Given the description of an element on the screen output the (x, y) to click on. 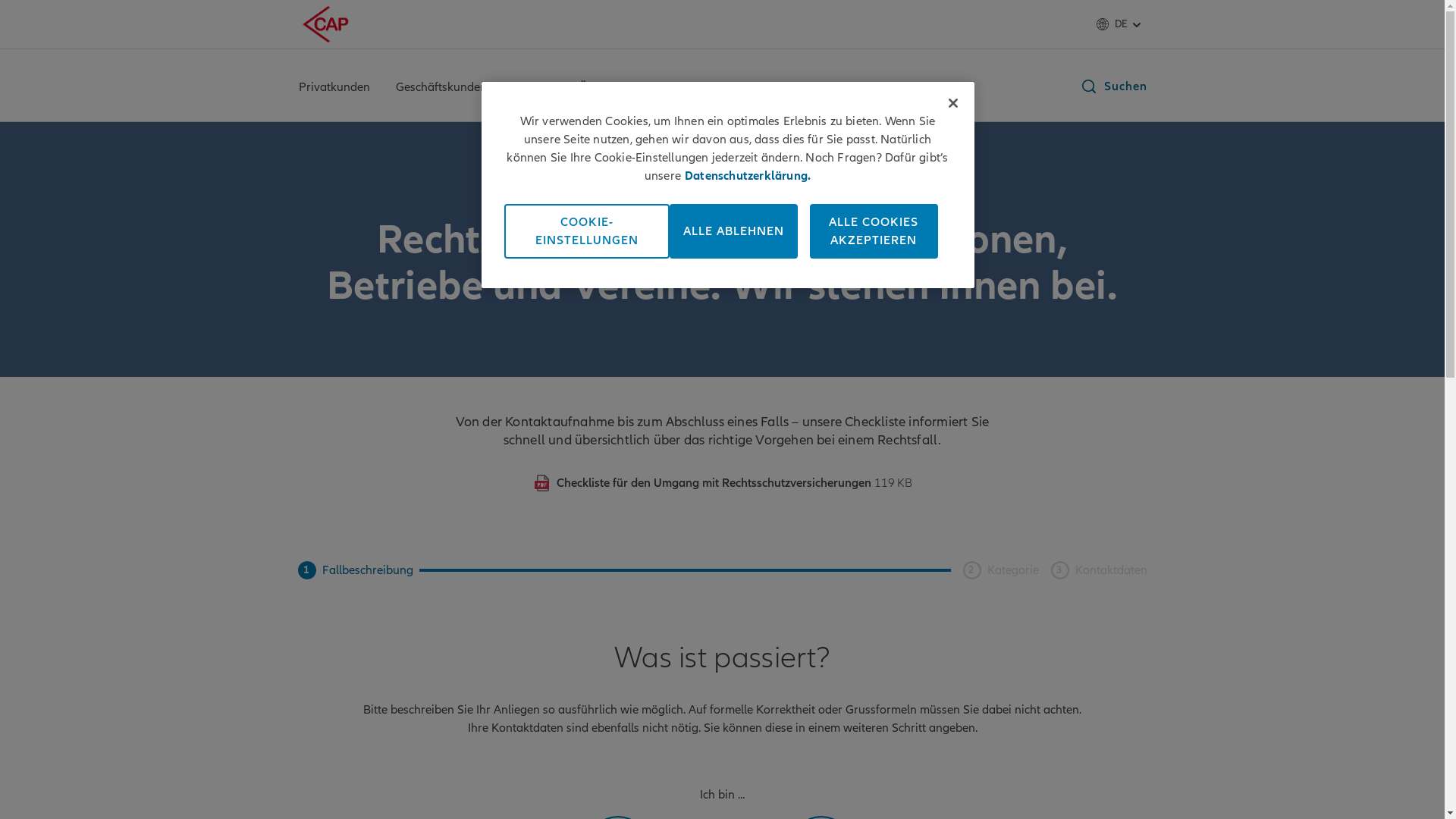
ALLE COOKIES AKZEPTIEREN Element type: text (873, 230)
Services Element type: text (532, 88)
ALLE ABLEHNEN Element type: text (732, 230)
Suchen Element type: text (1113, 86)
Karriere Element type: text (671, 88)
COOKIE-EINSTELLUNGEN Element type: text (585, 230)
DE Element type: text (1120, 24)
Privatkunden Element type: text (333, 88)
